Given the description of an element on the screen output the (x, y) to click on. 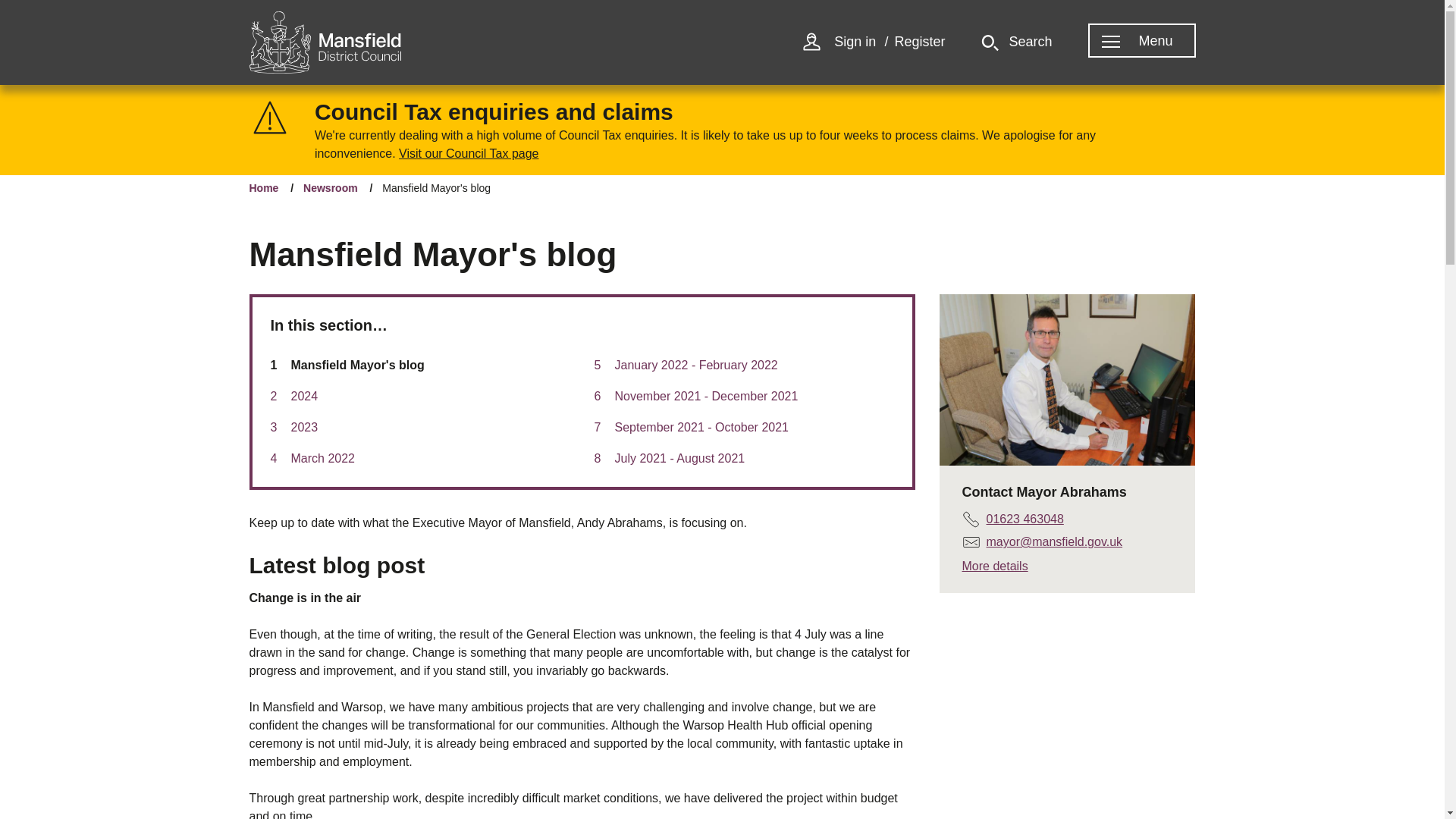
Mansfield District Council Home Page (324, 42)
Home (263, 187)
Mansfield District Council (324, 42)
Search (1016, 42)
Sign in (855, 41)
Register (918, 41)
Visit our Council Tax page (468, 153)
Menu (1132, 42)
